Given the description of an element on the screen output the (x, y) to click on. 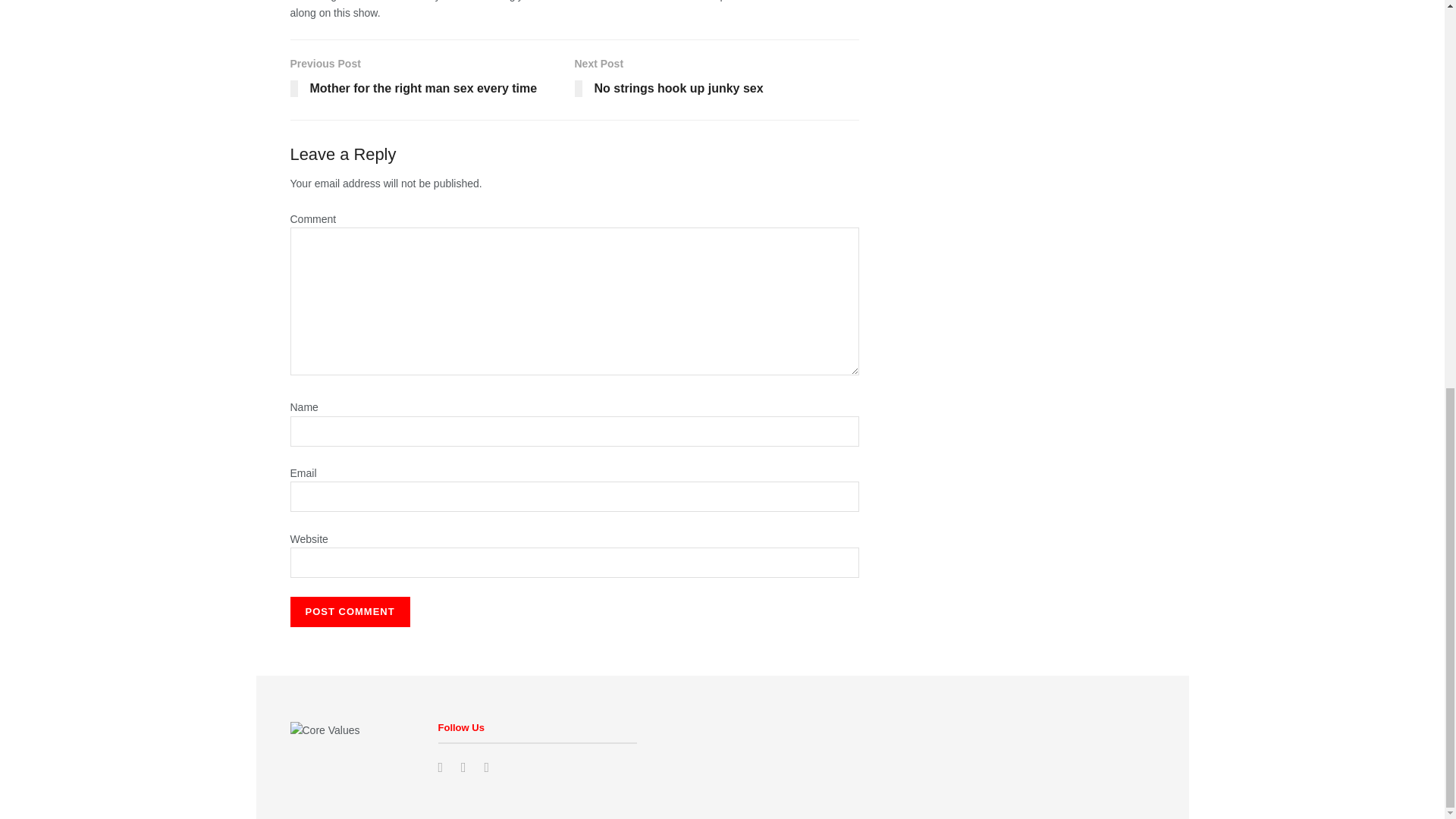
Post Comment (431, 79)
Post Comment (349, 612)
